Given the description of an element on the screen output the (x, y) to click on. 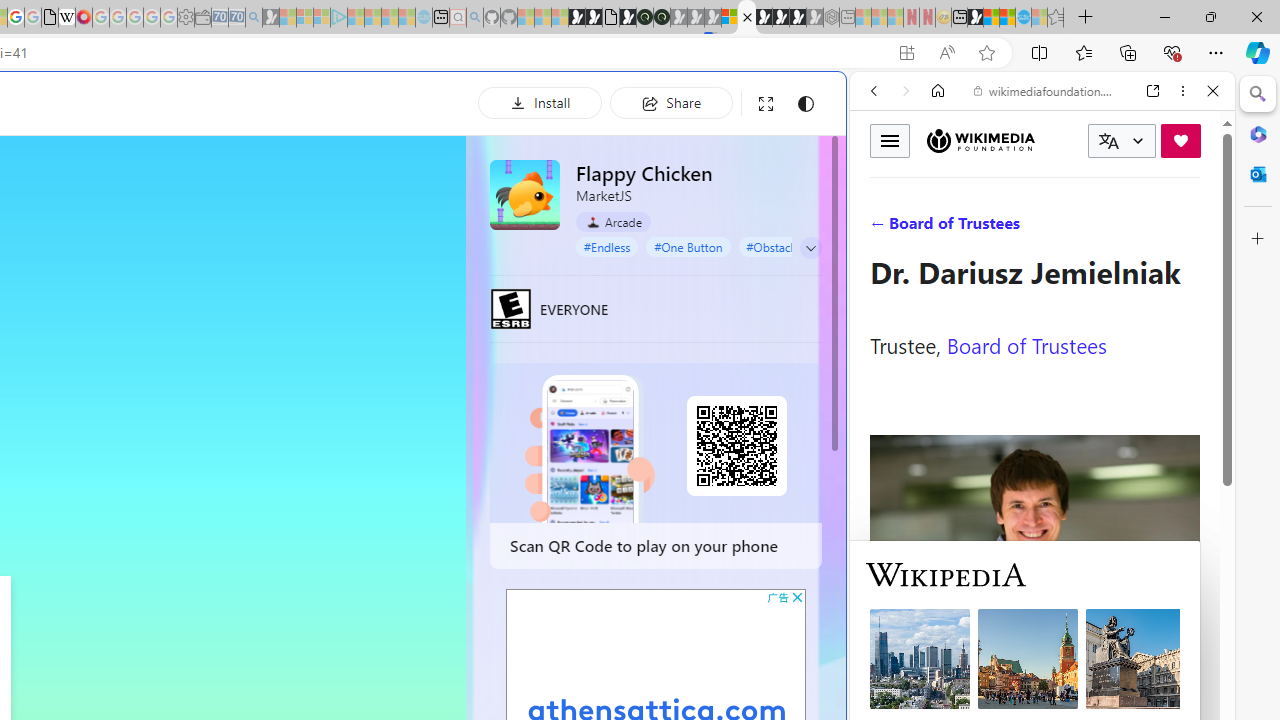
EVERYONE (511, 308)
Settings - Sleeping (185, 17)
Arcade (613, 222)
Services - Maintenance | Sky Blue Bikes - Sky Blue Bikes (1023, 17)
